Given the description of an element on the screen output the (x, y) to click on. 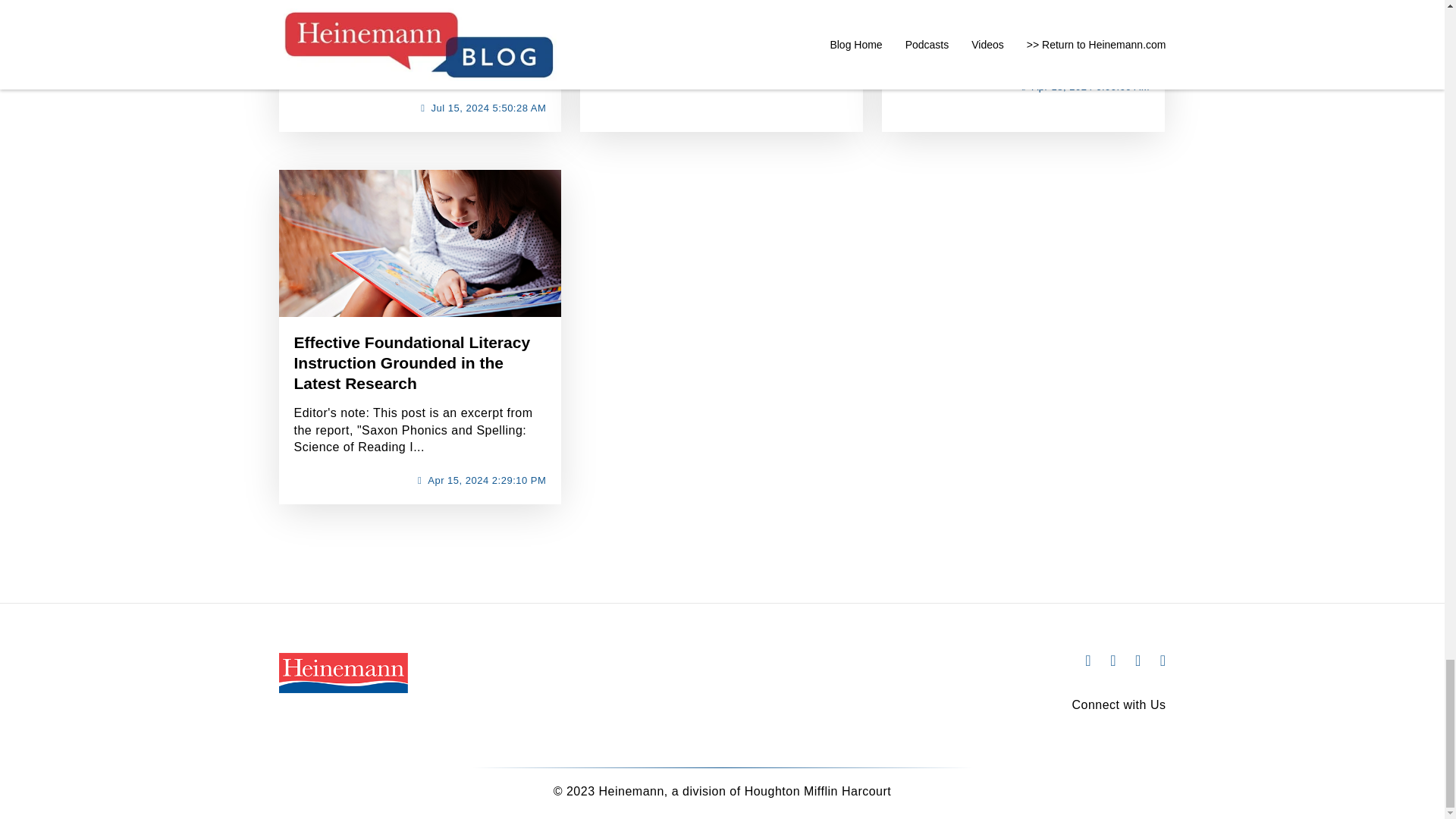
Heinemann-primary-logo-RGB (343, 672)
